Given the description of an element on the screen output the (x, y) to click on. 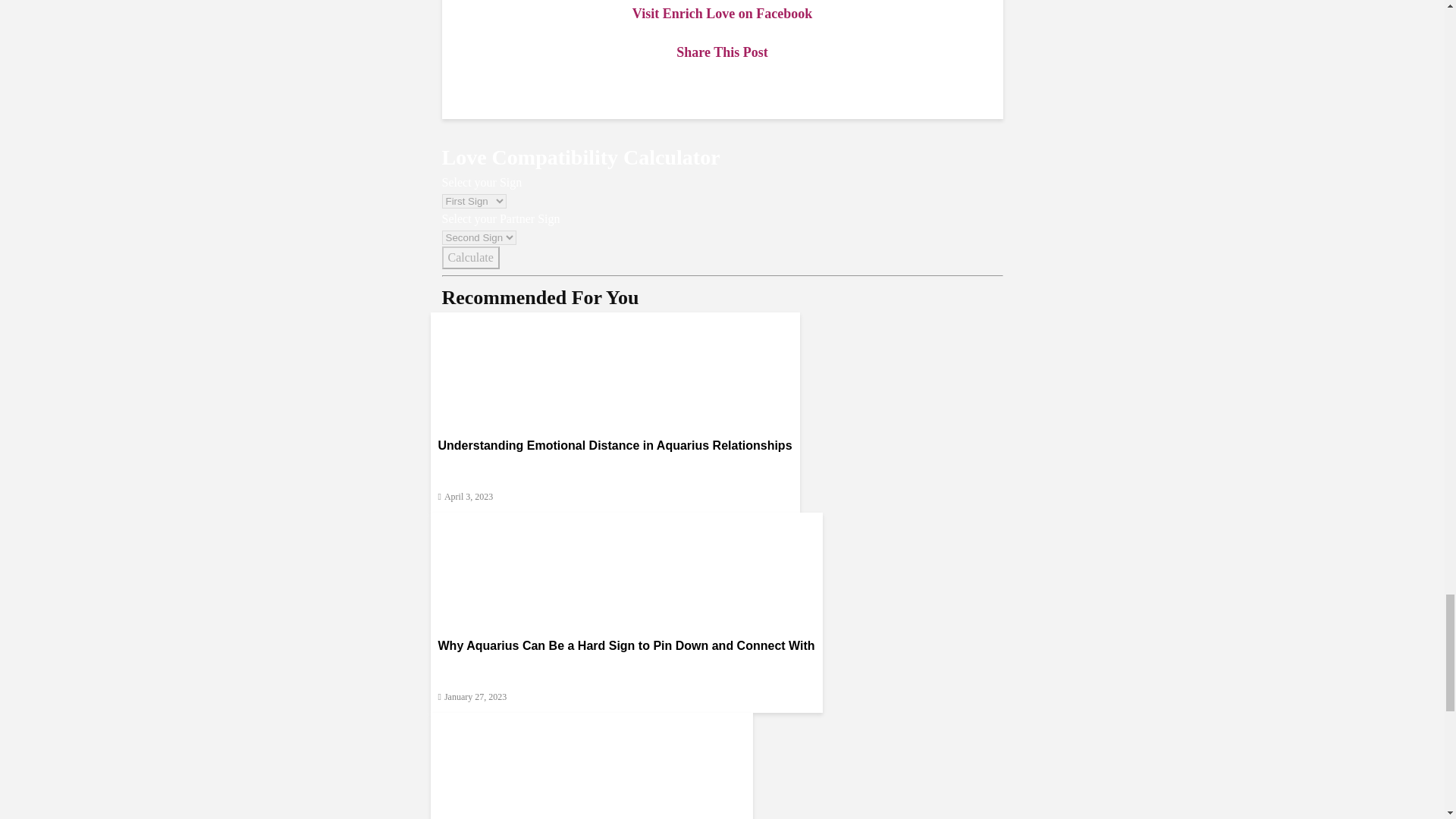
Why Aquarius Can Be a Hard Sign to Pin Down and Connect With (626, 569)
Understanding Emotional Distance in Aquarius Relationships (614, 369)
Find Out Why Aquarius Have Such a Magnetic Charm (592, 769)
